Given the description of an element on the screen output the (x, y) to click on. 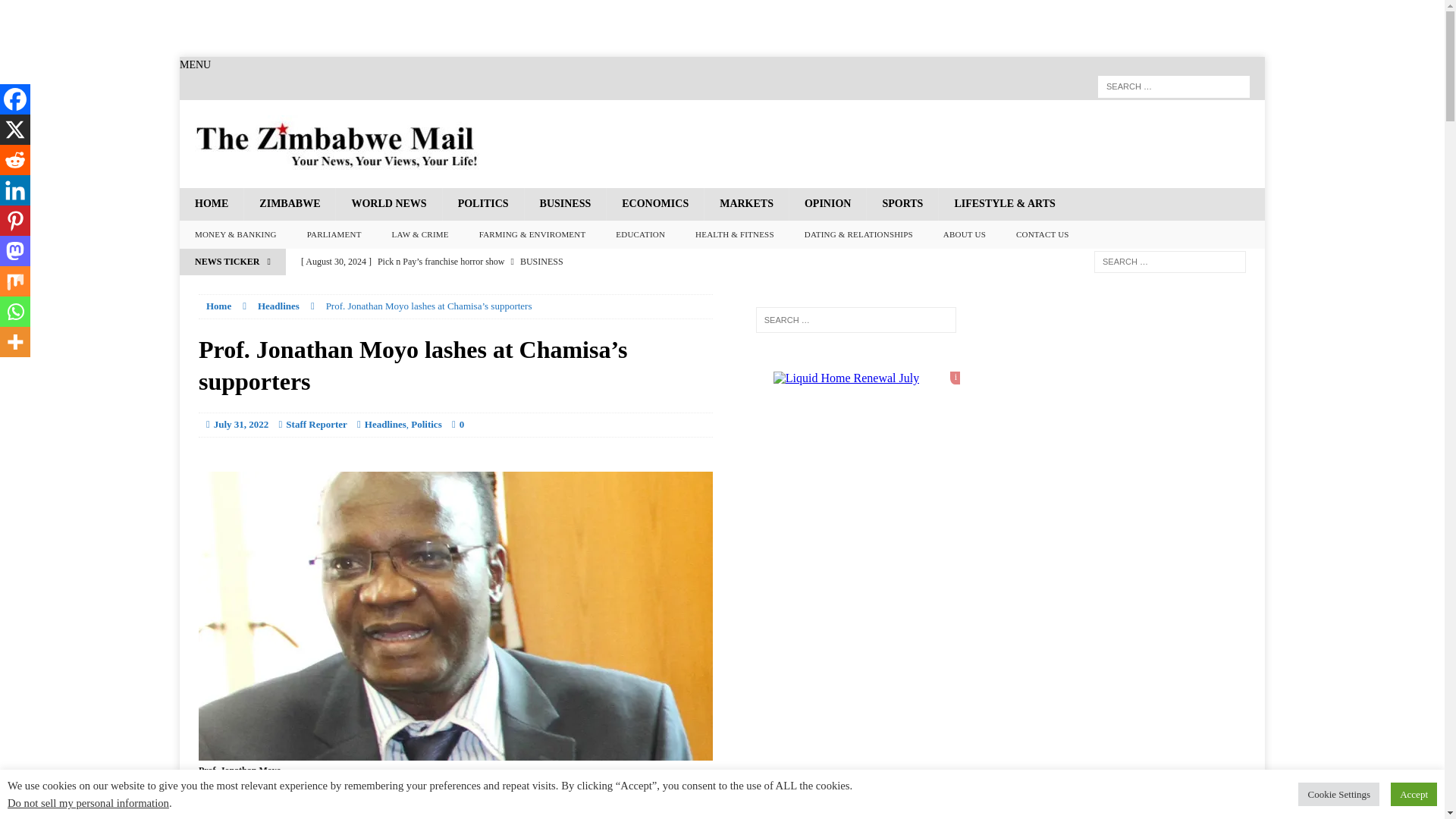
Facebook (213, 816)
ZIMBABWE (288, 204)
BUSINESS (565, 204)
MARKETS (746, 204)
CONTACT US (1042, 234)
Search (37, 11)
ECONOMICS (654, 204)
Headlines (278, 306)
POLITICS (483, 204)
